Given the description of an element on the screen output the (x, y) to click on. 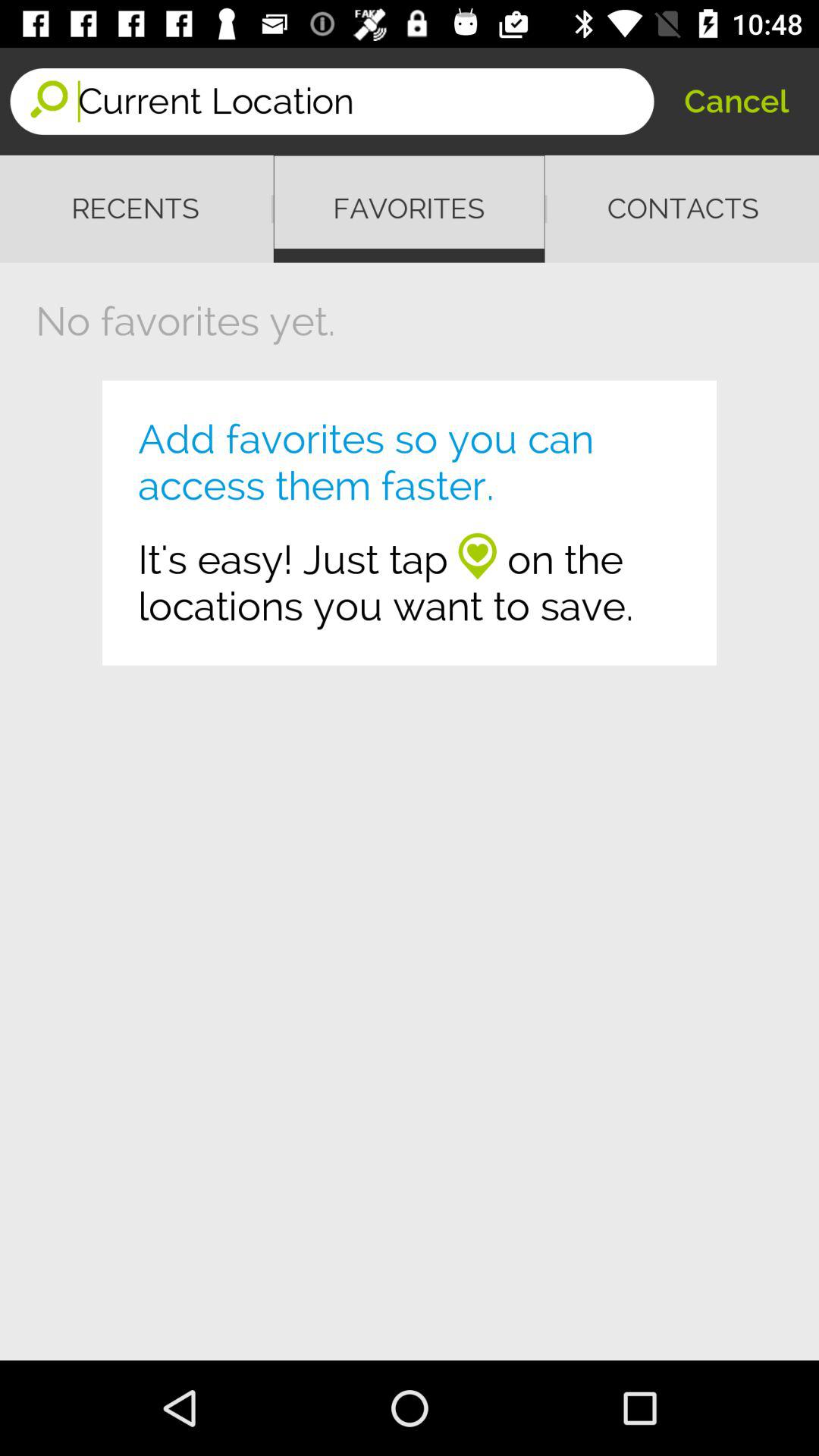
choose the icon above the contacts icon (736, 101)
